Given the description of an element on the screen output the (x, y) to click on. 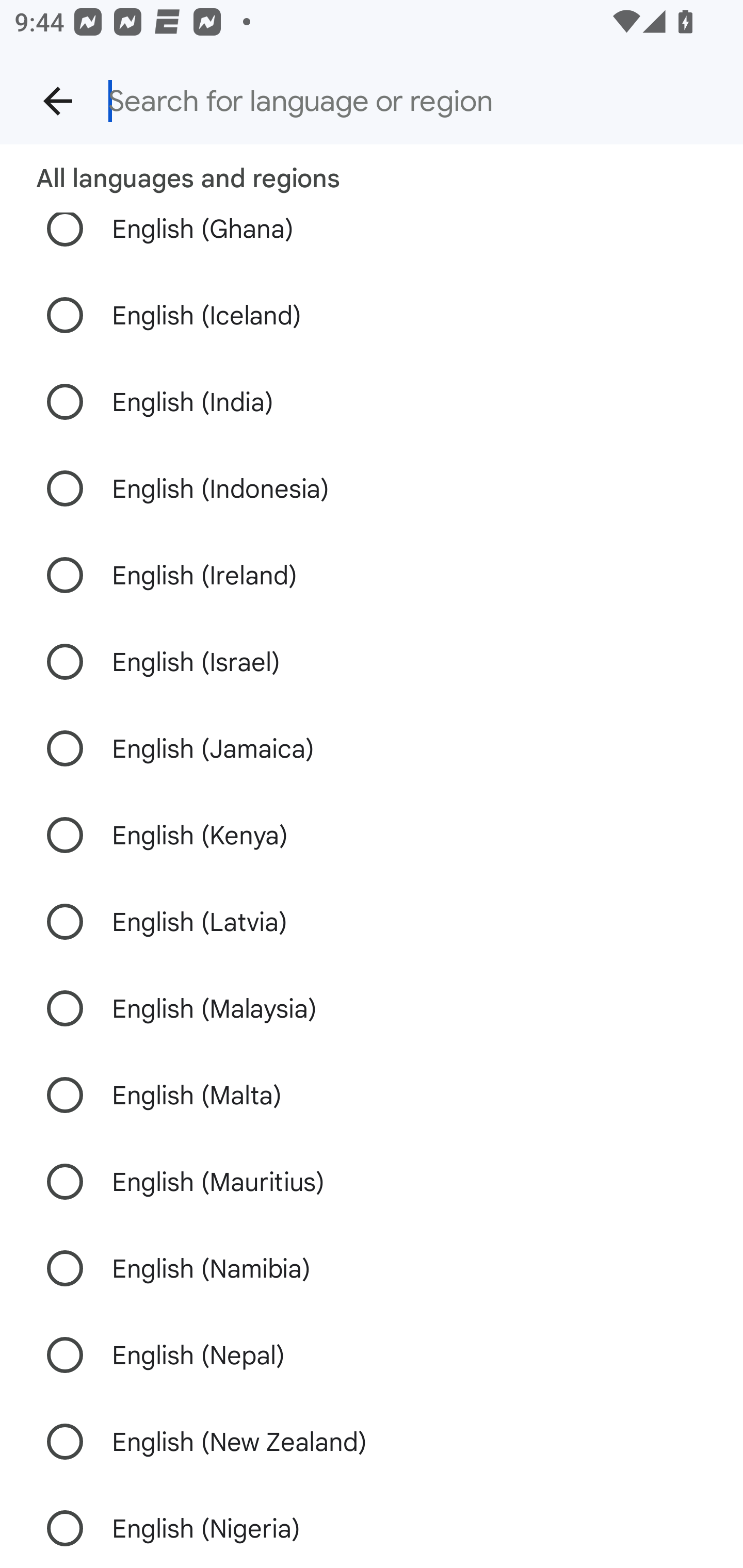
Navigate up (57, 100)
Search for language or region (407, 100)
English (Ghana) (371, 242)
English (Iceland) (371, 315)
English (India) (371, 402)
English (Indonesia) (371, 488)
English (Ireland) (371, 574)
English (Israel) (371, 661)
English (Jamaica) (371, 748)
English (Kenya) (371, 834)
English (Latvia) (371, 921)
English (Malaysia) (371, 1008)
English (Malta) (371, 1095)
English (Mauritius) (371, 1181)
English (Namibia) (371, 1268)
English (Nepal) (371, 1355)
English (New Zealand) (371, 1441)
English (Nigeria) (371, 1526)
